Given the description of an element on the screen output the (x, y) to click on. 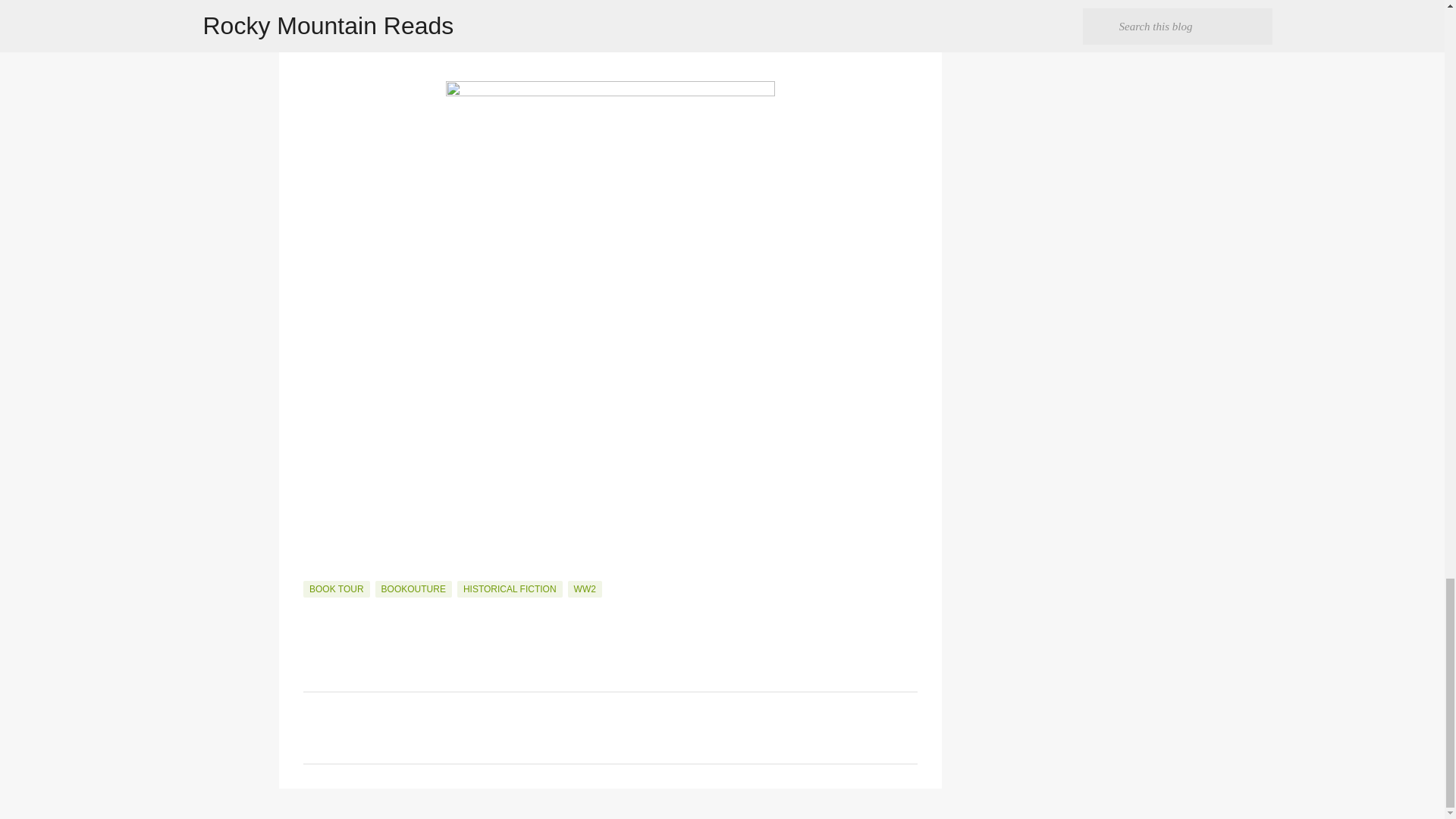
HISTORICAL FICTION (509, 588)
BOOK TOUR (335, 588)
BOOKOUTURE (413, 588)
WW2 (584, 588)
